Given the description of an element on the screen output the (x, y) to click on. 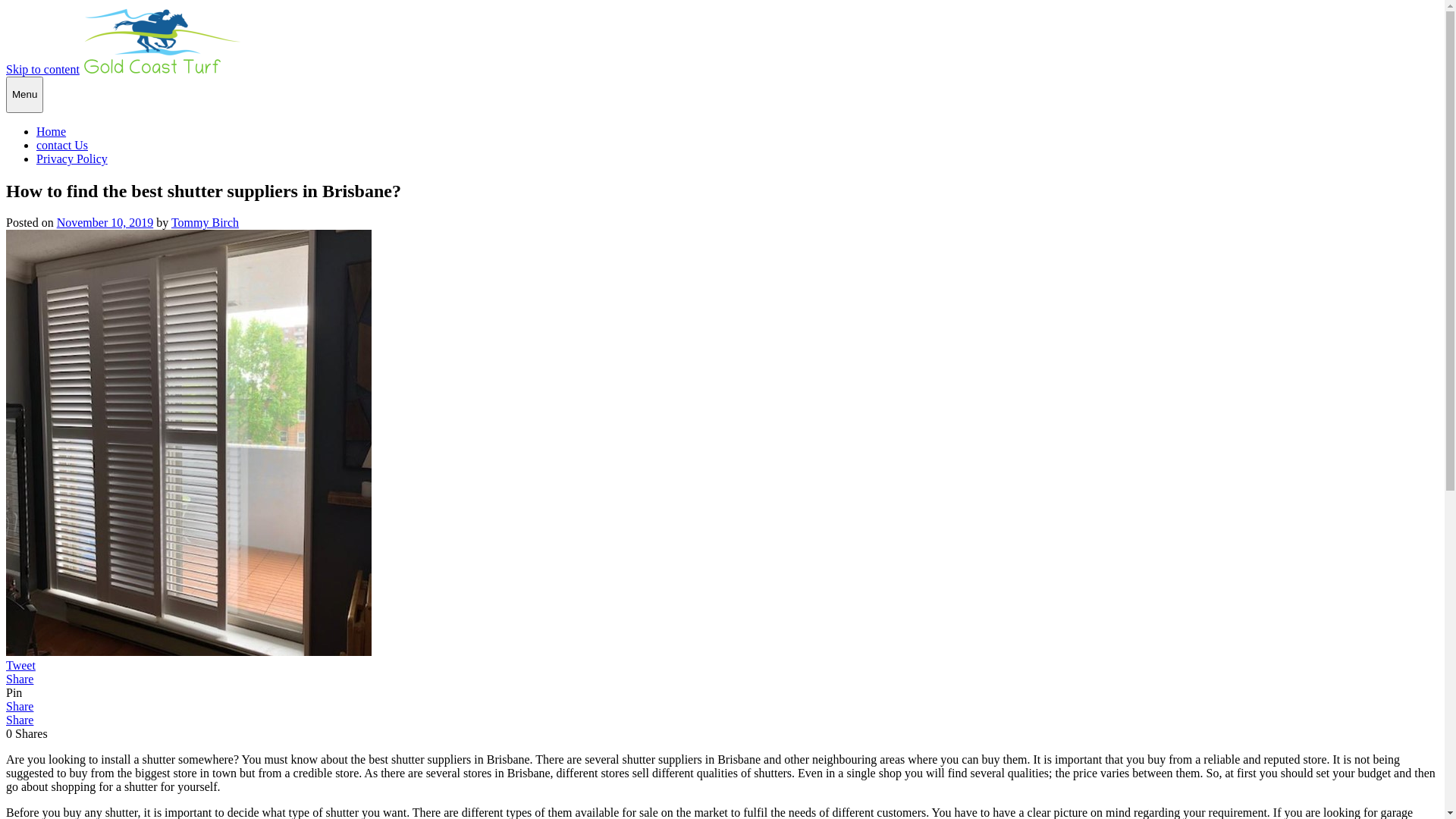
Privacy Policy Element type: text (71, 158)
Tommy Birch Element type: text (204, 222)
Home Element type: text (50, 131)
Gold Coast Turf Element type: text (45, 94)
Share Element type: text (19, 705)
November 10, 2019 Element type: text (104, 222)
Share Element type: text (19, 719)
contact Us Element type: text (61, 144)
Pin Element type: text (13, 692)
Share Element type: text (19, 678)
Tweet Element type: text (20, 664)
Menu Element type: text (24, 94)
Skip to content Element type: text (42, 68)
